Given the description of an element on the screen output the (x, y) to click on. 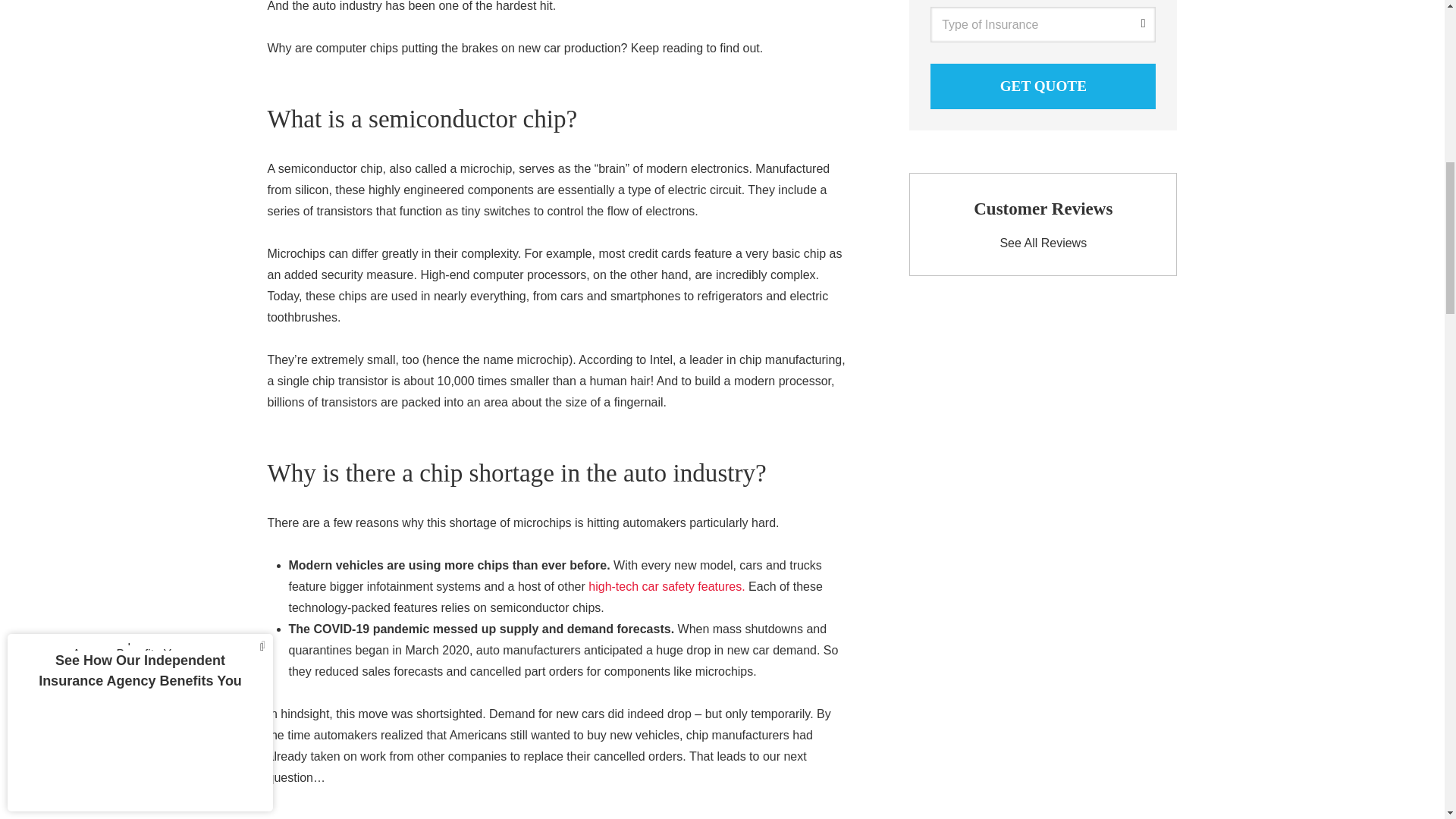
Get Quote (1043, 85)
